Given the description of an element on the screen output the (x, y) to click on. 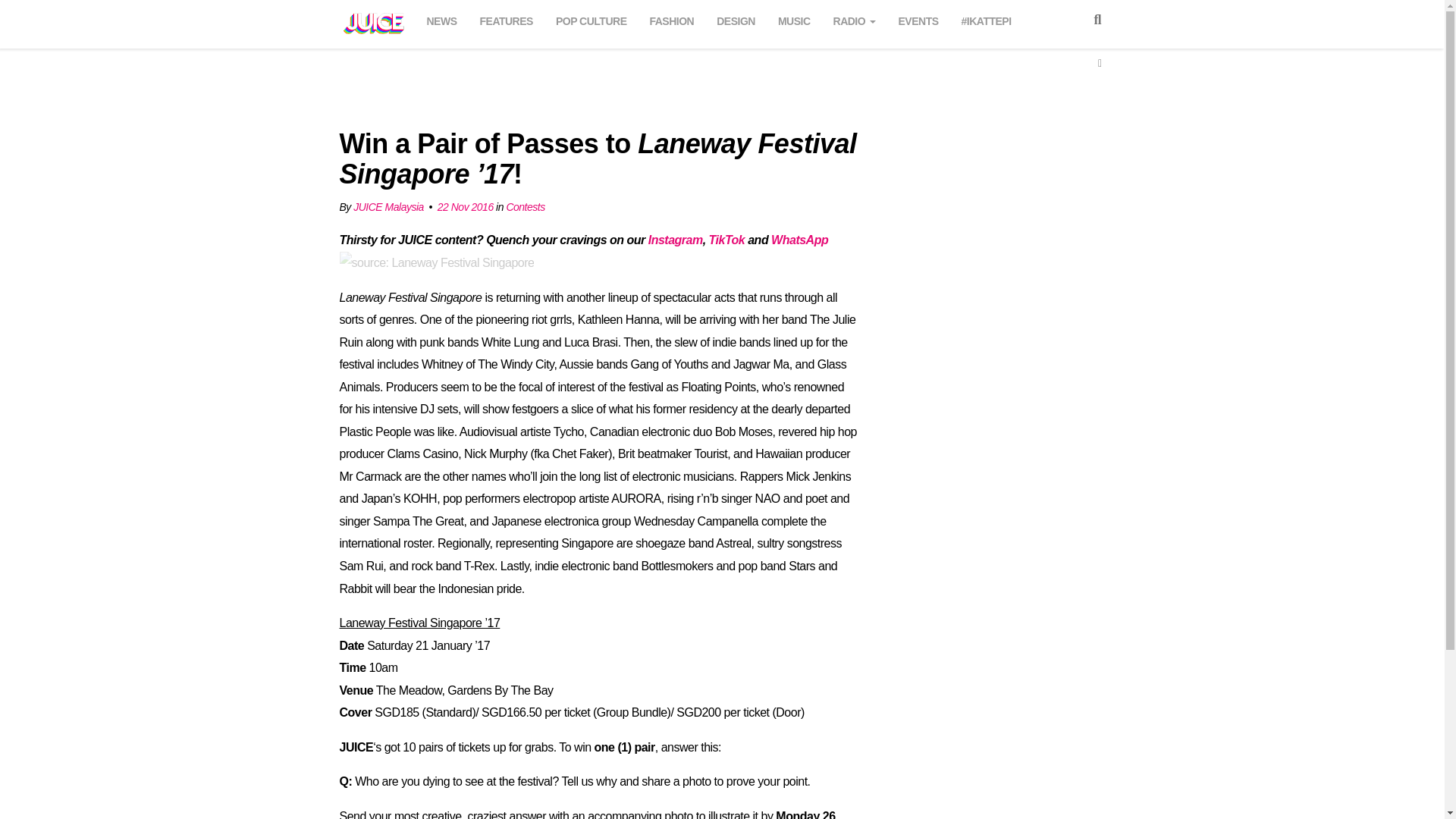
Fashion (671, 19)
DESIGN (735, 19)
MUSIC (794, 19)
Pop Culture (591, 19)
POP CULTURE (591, 19)
RADIO (854, 19)
Events (918, 19)
EVENTS (918, 19)
Music (794, 19)
FEATURES (505, 19)
NEWS (441, 19)
Design (735, 19)
Radio (854, 19)
News (441, 19)
FASHION (671, 19)
